Given the description of an element on the screen output the (x, y) to click on. 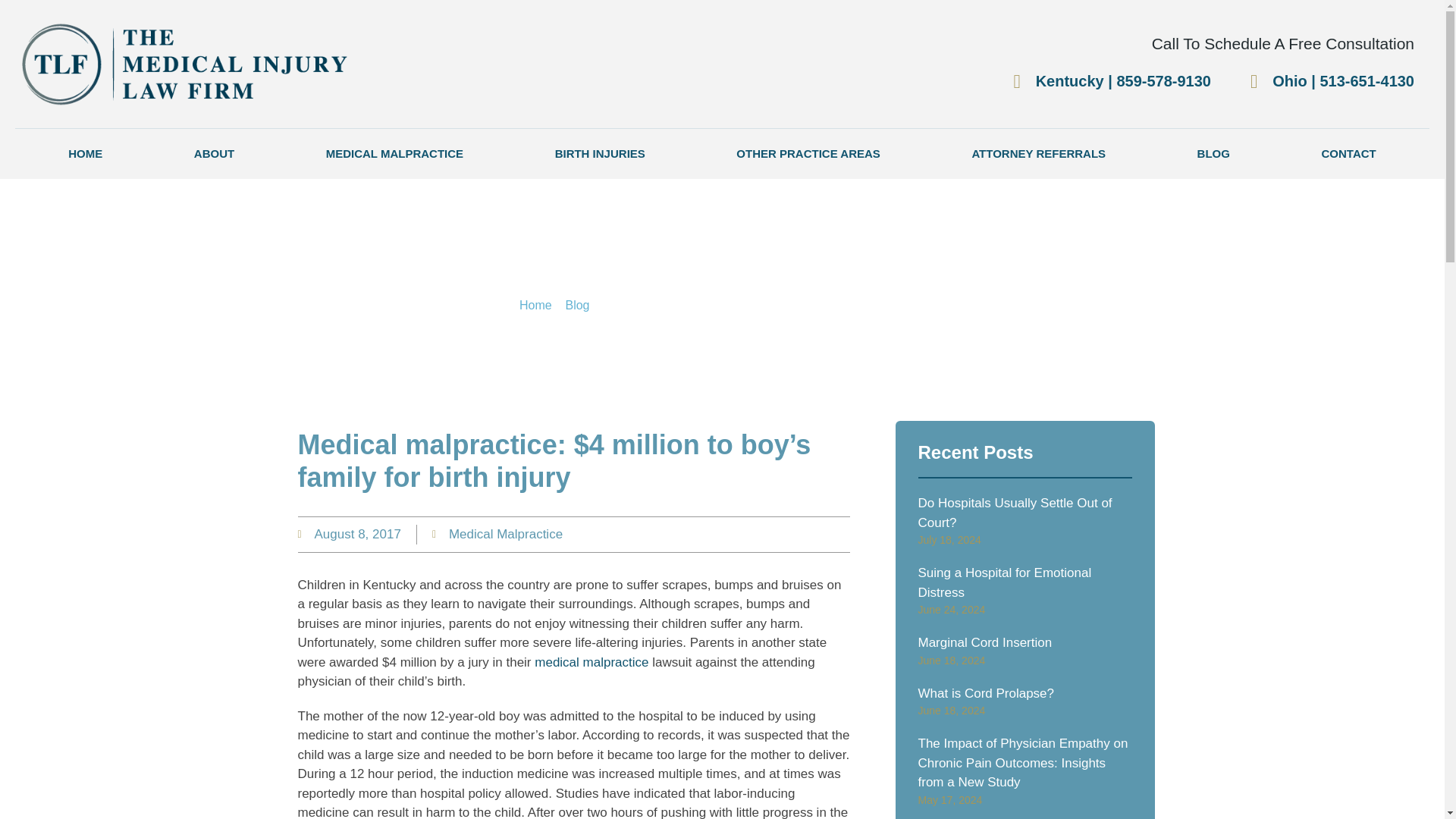
MEDICAL MALPRACTICE (393, 153)
HOME (85, 153)
ABOUT (214, 153)
